Given the description of an element on the screen output the (x, y) to click on. 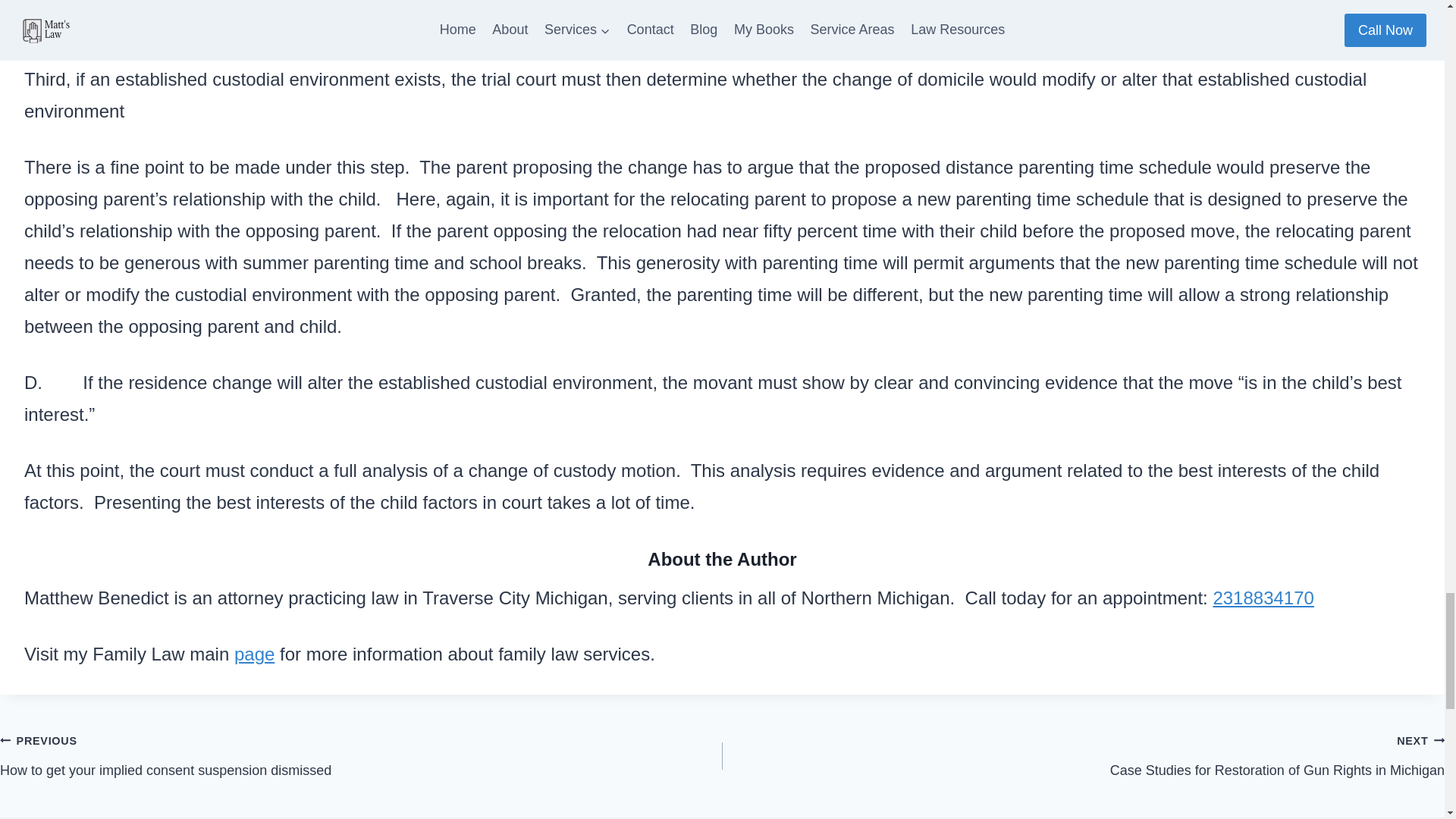
2318834170 (1262, 598)
page (254, 653)
